Given the description of an element on the screen output the (x, y) to click on. 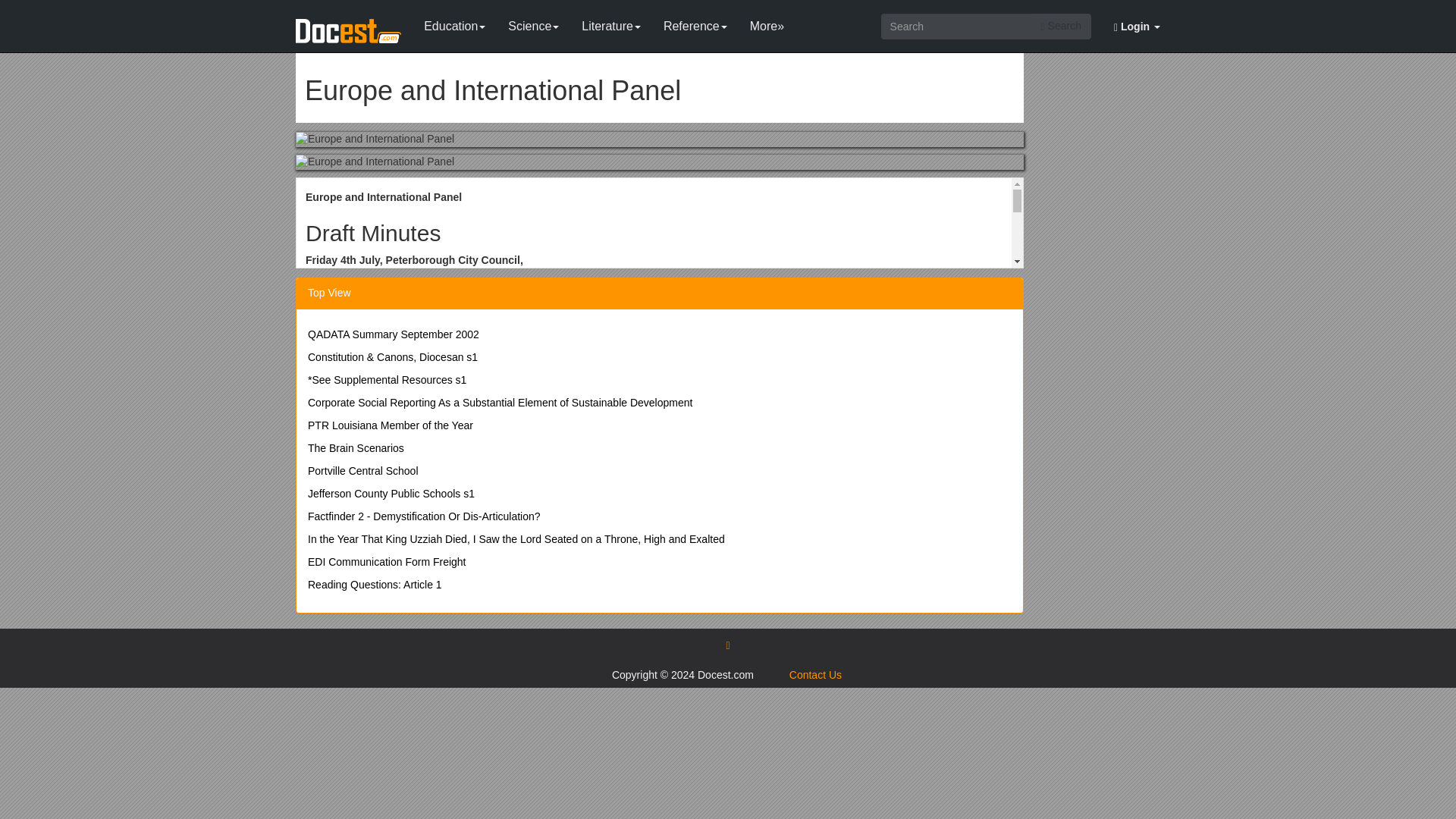
Science (533, 22)
Education (454, 22)
Literature (611, 22)
Reference (695, 22)
TO TOP (727, 644)
